Given the description of an element on the screen output the (x, y) to click on. 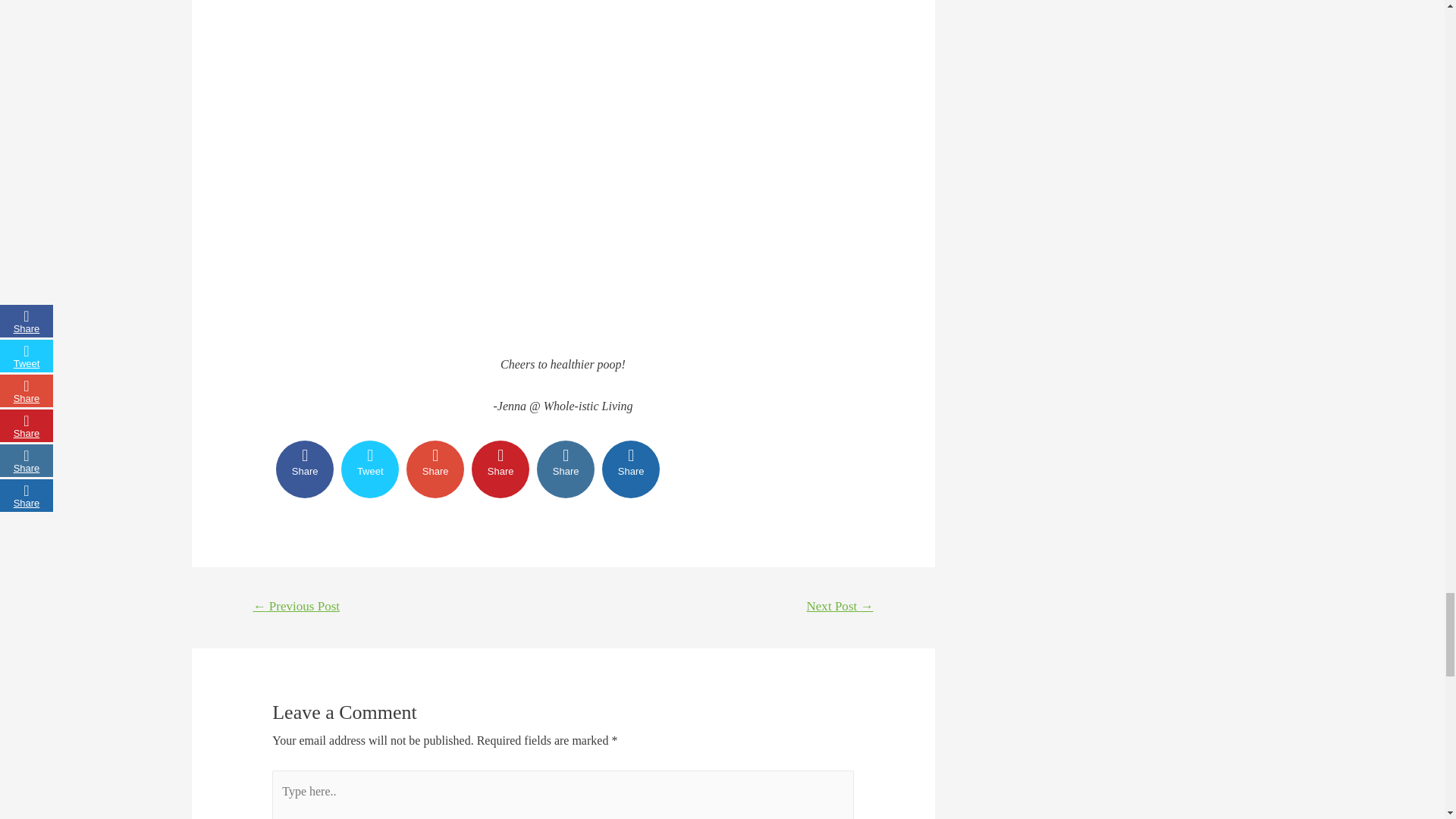
Share on Facebook (304, 468)
